Given the description of an element on the screen output the (x, y) to click on. 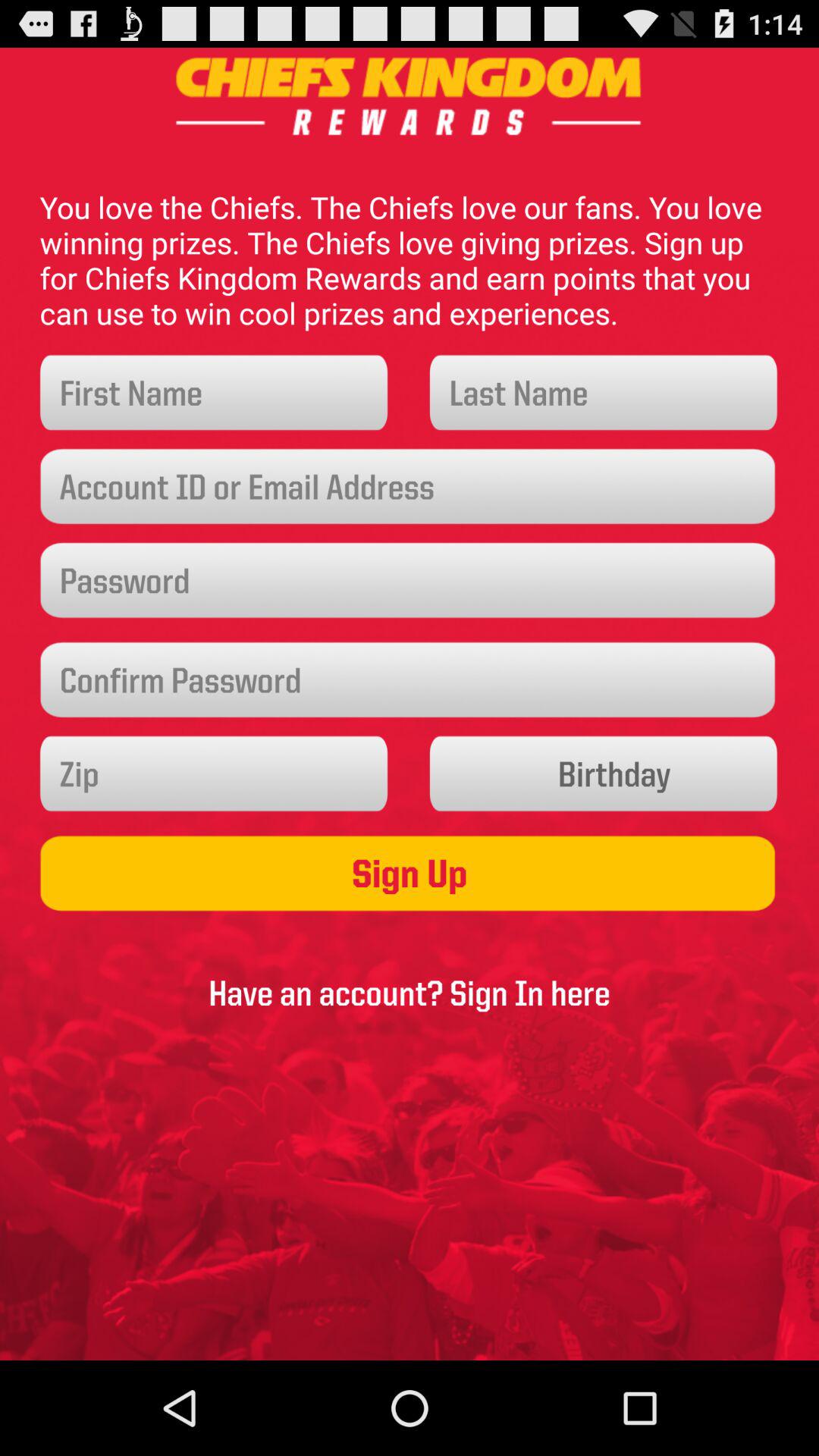
enter account id or email address (409, 486)
